Given the description of an element on the screen output the (x, y) to click on. 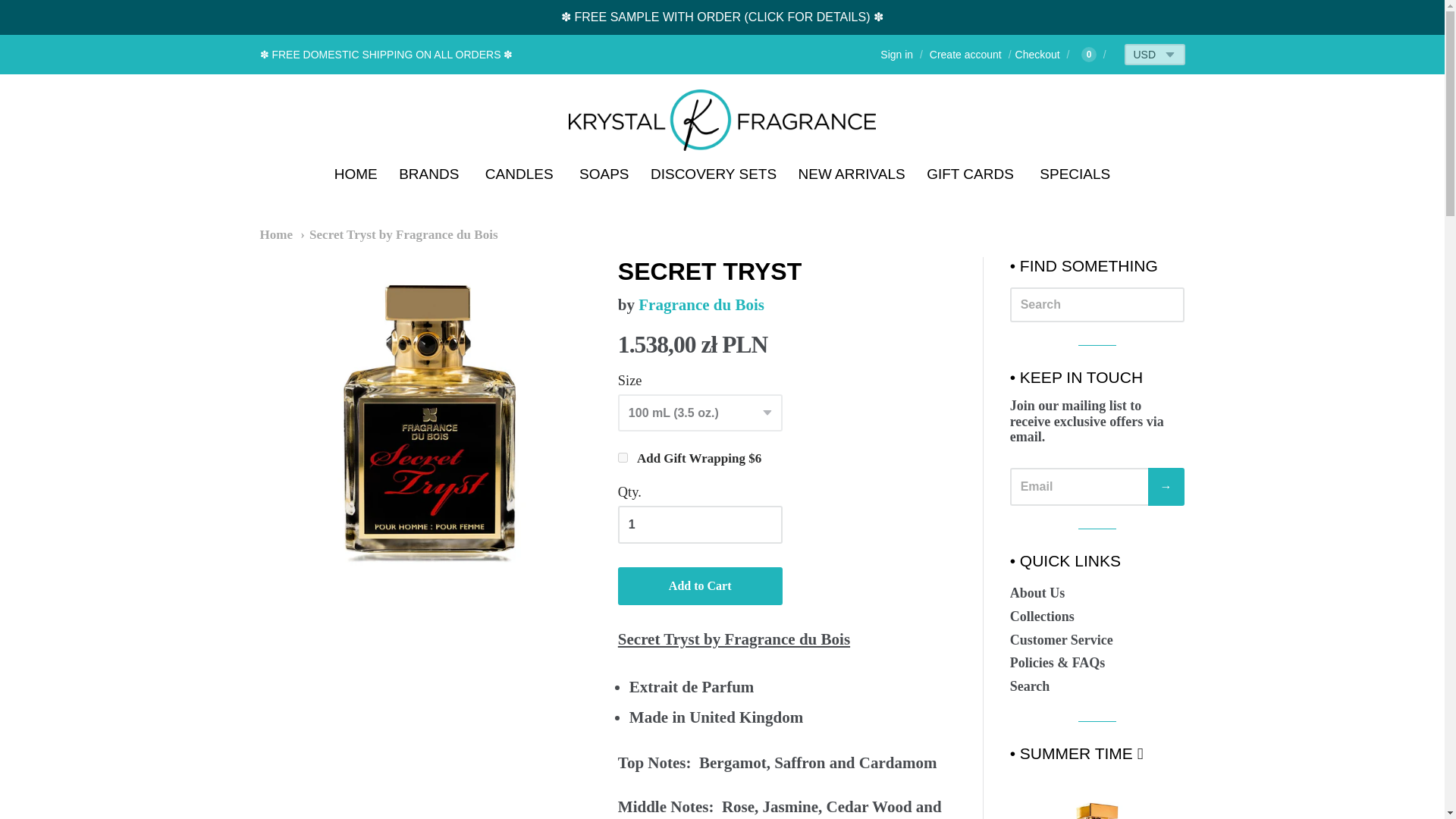
Checkout (1031, 54)
Narco Oasis (1097, 796)
Secret Tryst (722, 119)
1 (700, 524)
HOME (355, 174)
Home (275, 234)
Create account (965, 54)
0 (1085, 54)
Secret Tryst by Fragrance du Bois (398, 234)
Sign in (896, 54)
Secret Tryst (427, 426)
on (622, 457)
BRANDS (430, 174)
